Given the description of an element on the screen output the (x, y) to click on. 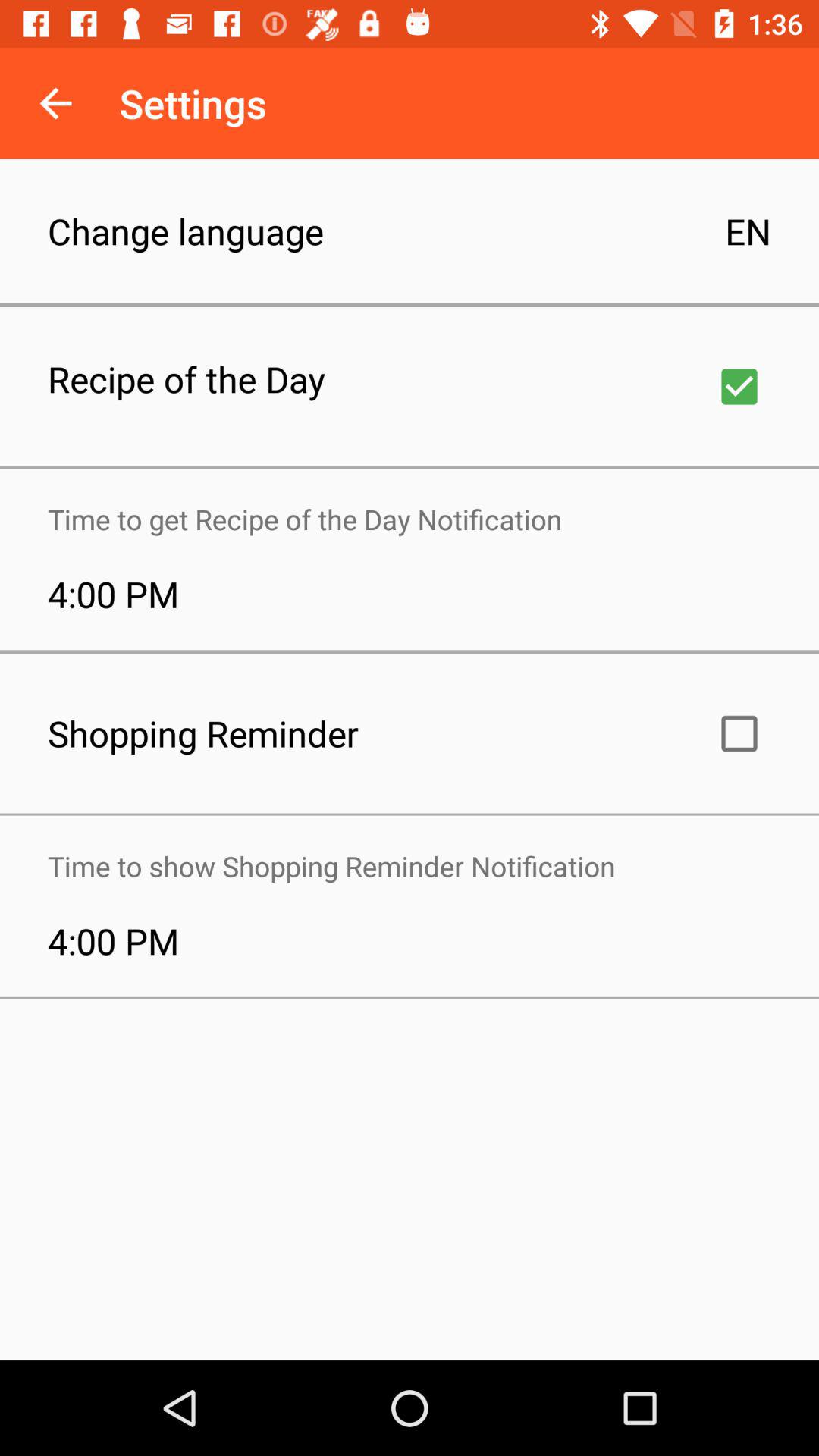
select item above the change language item (55, 103)
